Given the description of an element on the screen output the (x, y) to click on. 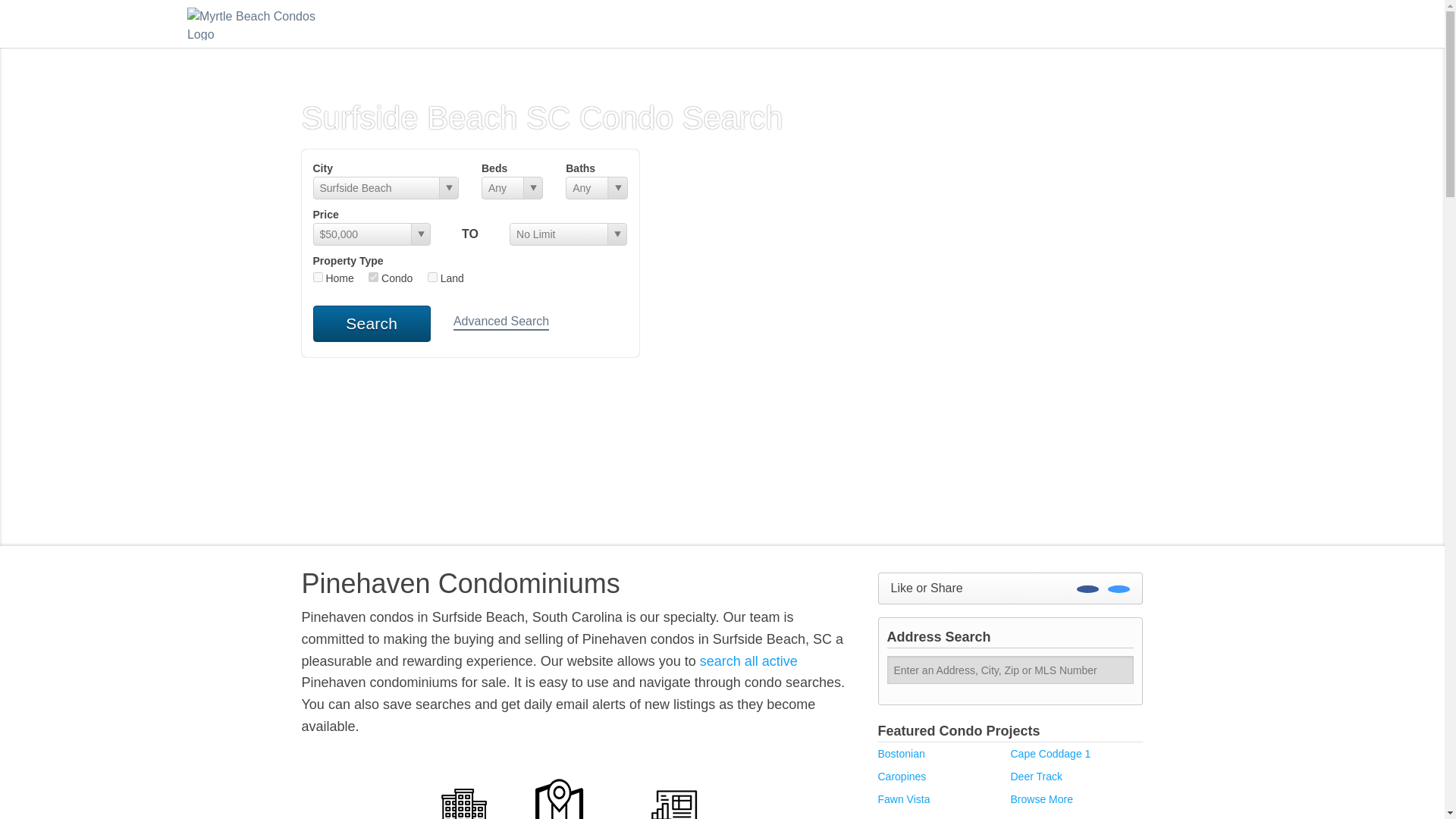
Search (371, 323)
Surfside Beach SC Market Report (676, 796)
Deer Track (1035, 776)
Search (371, 323)
Advanced Search (500, 322)
Myrtle Beach Condos Logo (263, 23)
Caropines (901, 776)
search all active (748, 661)
Fawn Vista (903, 799)
Bostonian (900, 753)
